Given the description of an element on the screen output the (x, y) to click on. 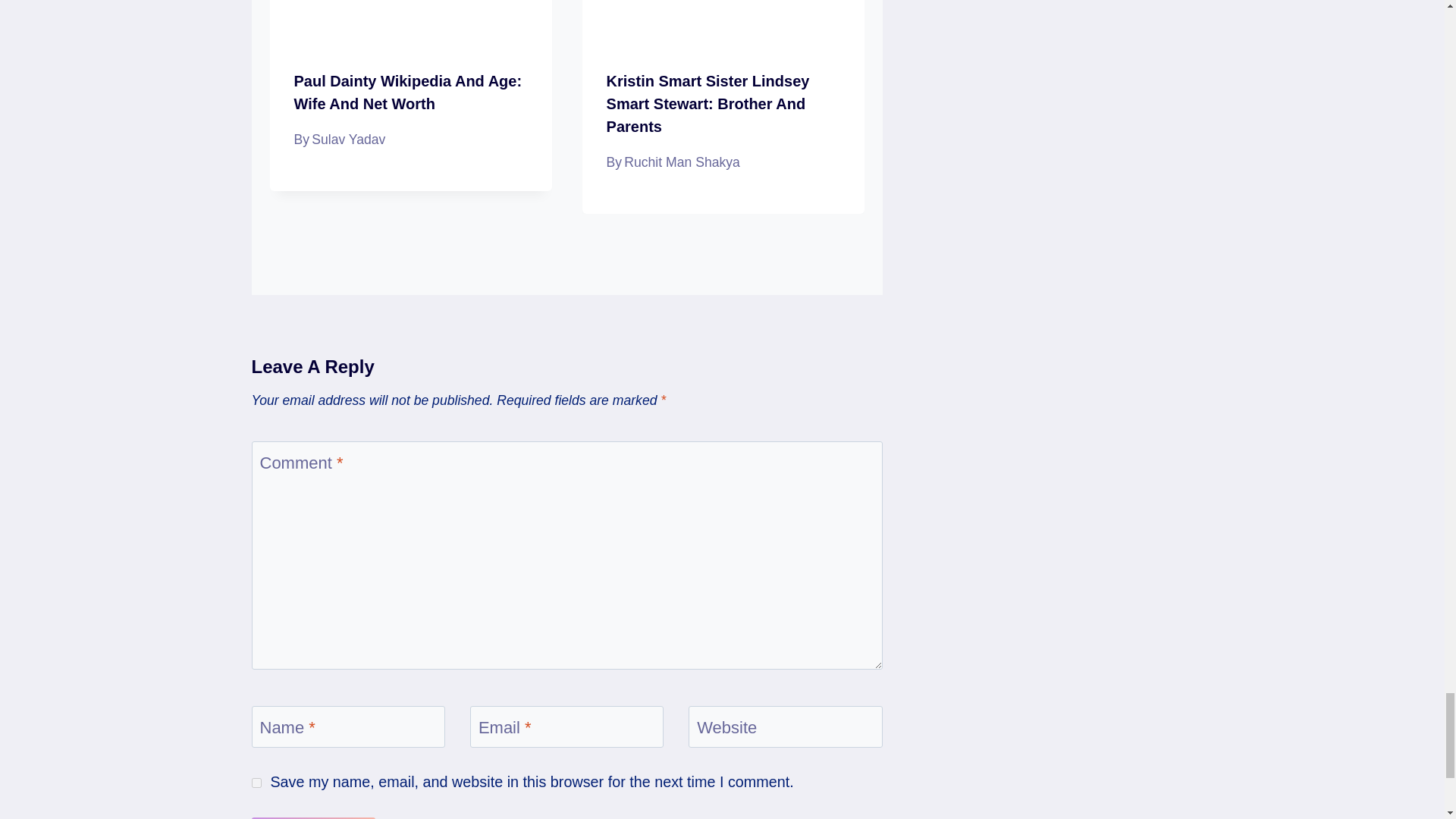
Post Comment (313, 818)
yes (256, 782)
